Given the description of an element on the screen output the (x, y) to click on. 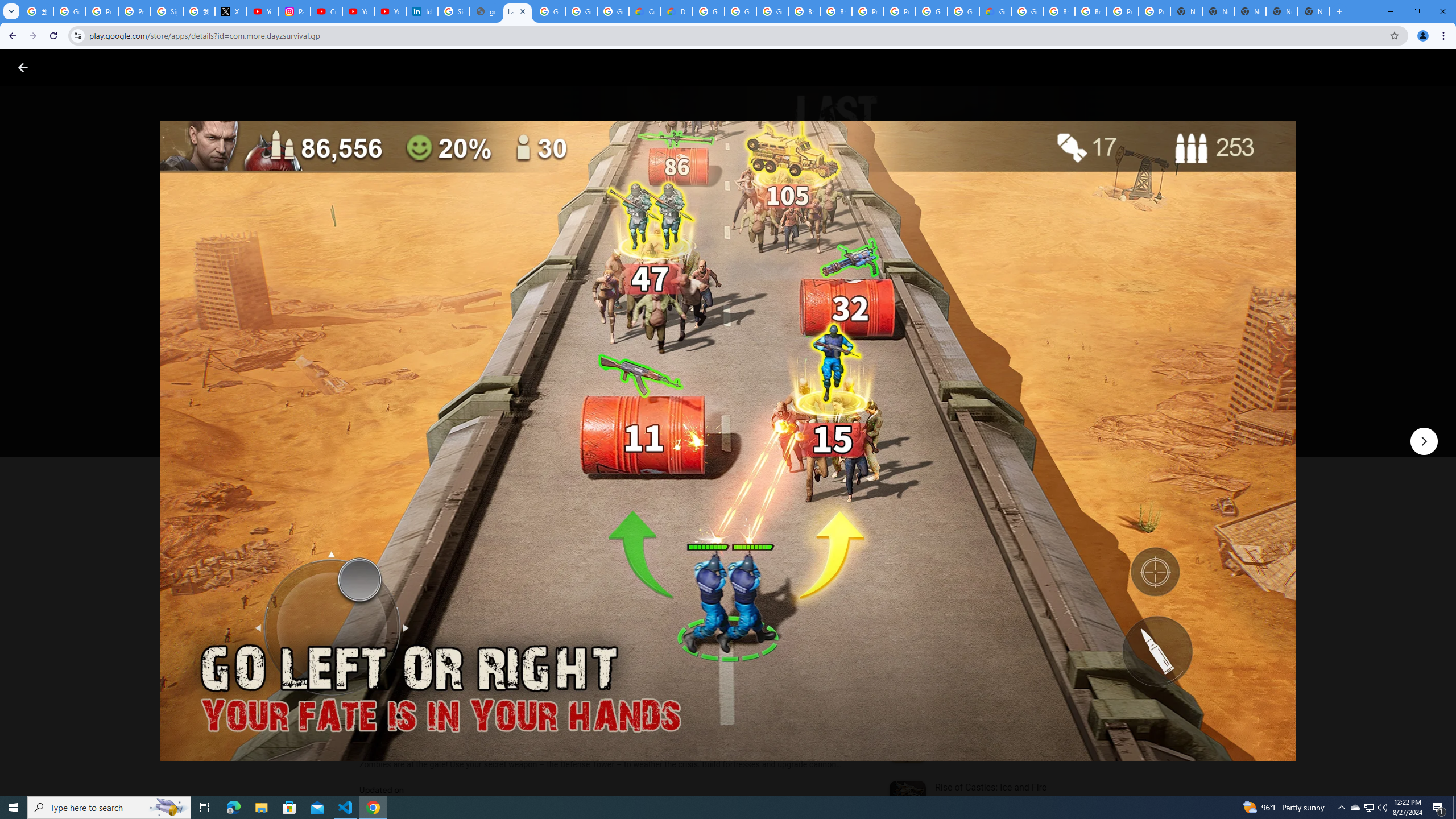
Browse Chrome as a guest - Computer - Google Chrome Help (804, 11)
Google Play logo (64, 67)
Google Cloud Estimate Summary (995, 11)
